Given the description of an element on the screen output the (x, y) to click on. 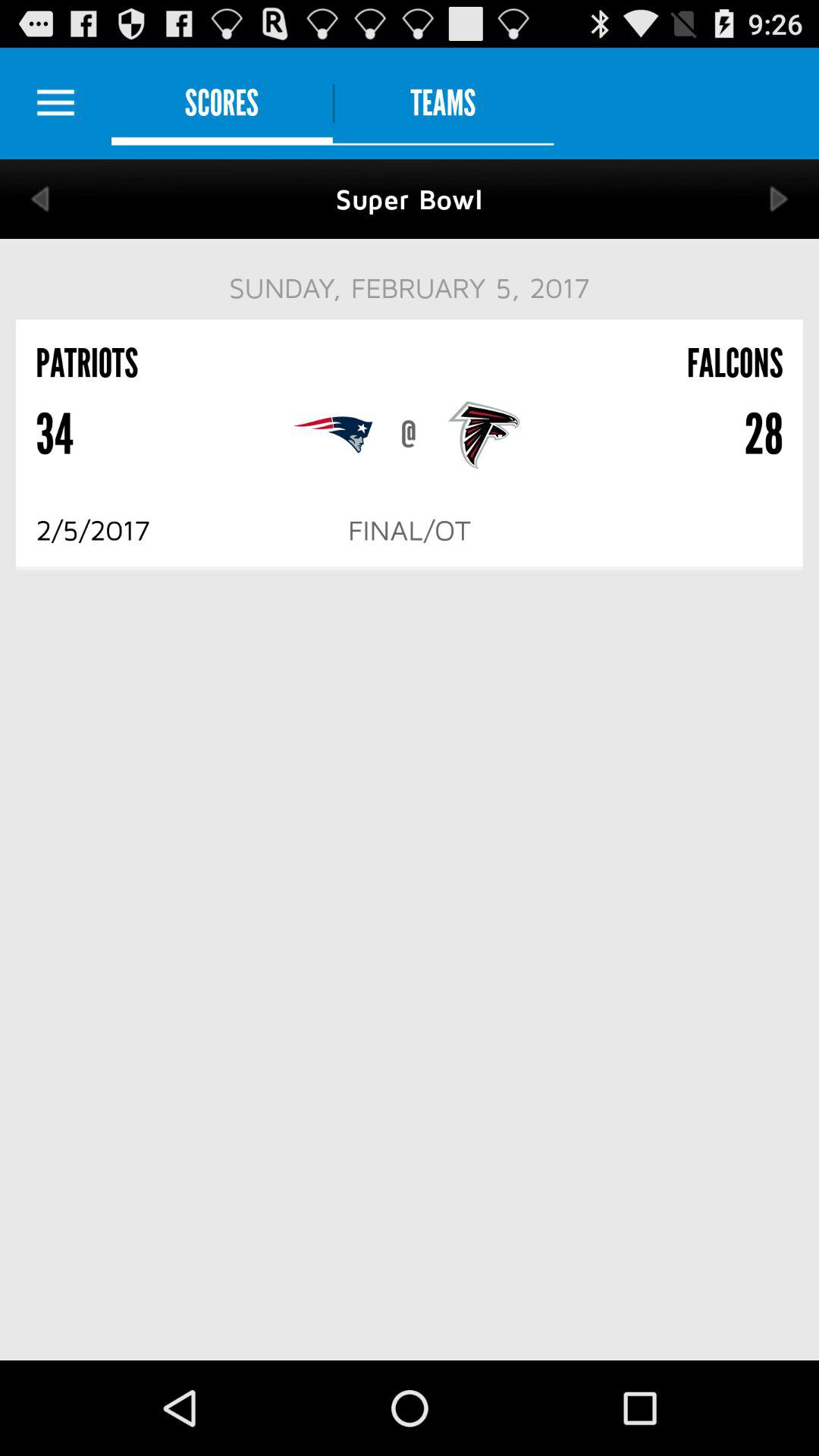
next the option (779, 198)
